Given the description of an element on the screen output the (x, y) to click on. 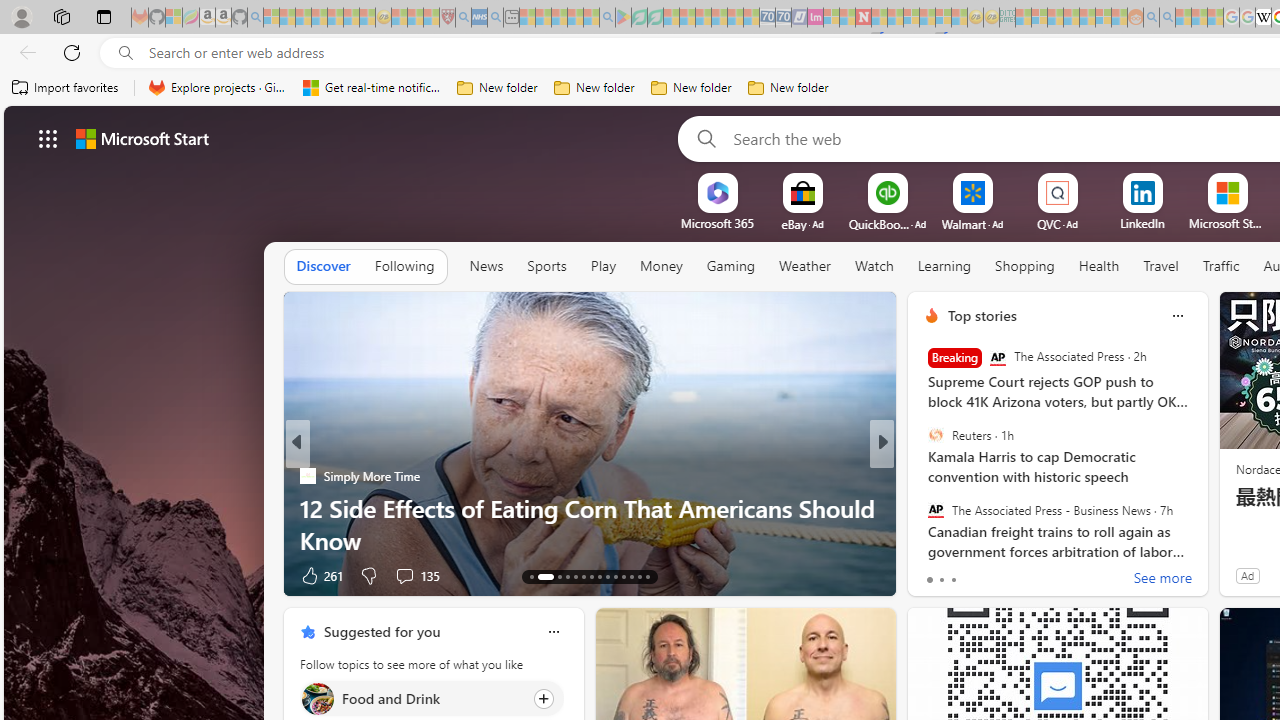
Robert H. Shmerling, MD - Harvard Health - Sleeping (447, 17)
Local - MSN - Sleeping (431, 17)
The Weather Channel - MSN - Sleeping (303, 17)
Play (602, 265)
tab-2 (953, 579)
Utah sues federal government - Search - Sleeping (1167, 17)
Watch (874, 267)
AutomationID: tab-18 (582, 576)
AutomationID: tab-20 (599, 576)
CNBC (923, 475)
Food and Drink (317, 697)
